Given the description of an element on the screen output the (x, y) to click on. 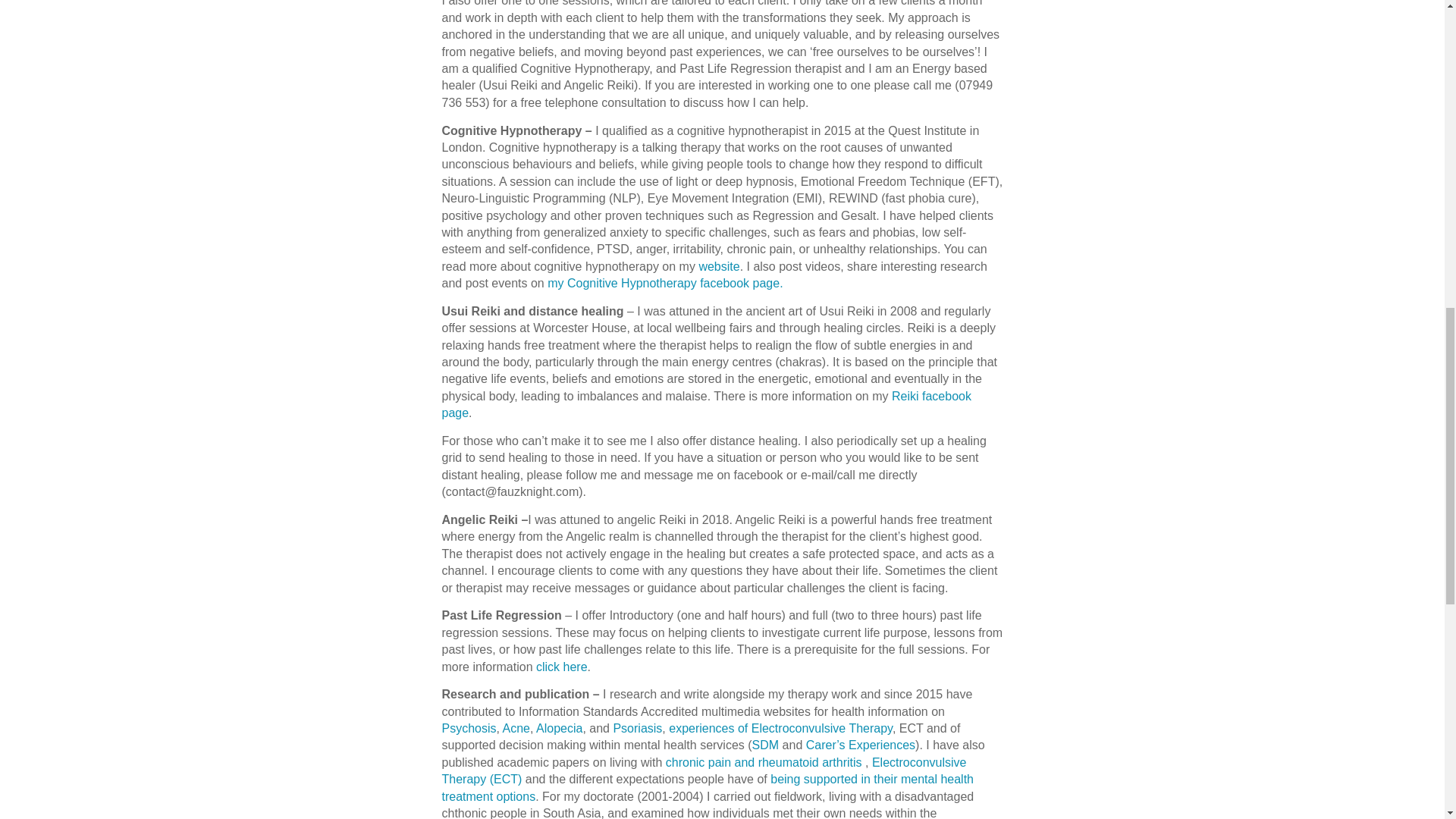
Alopecia (558, 727)
Psychosis (468, 727)
Acne (515, 727)
my Cognitive Hypnotherapy facebook page. (665, 282)
SDM (765, 744)
Psoriasis (637, 727)
Reiki facebook page (706, 404)
chronic pain and rheumatoid arthritis (763, 762)
website (718, 266)
experiences of Electroconvulsive Therapy (780, 727)
being supported in their mental health treatment options (706, 787)
click here (561, 666)
